Given the description of an element on the screen output the (x, y) to click on. 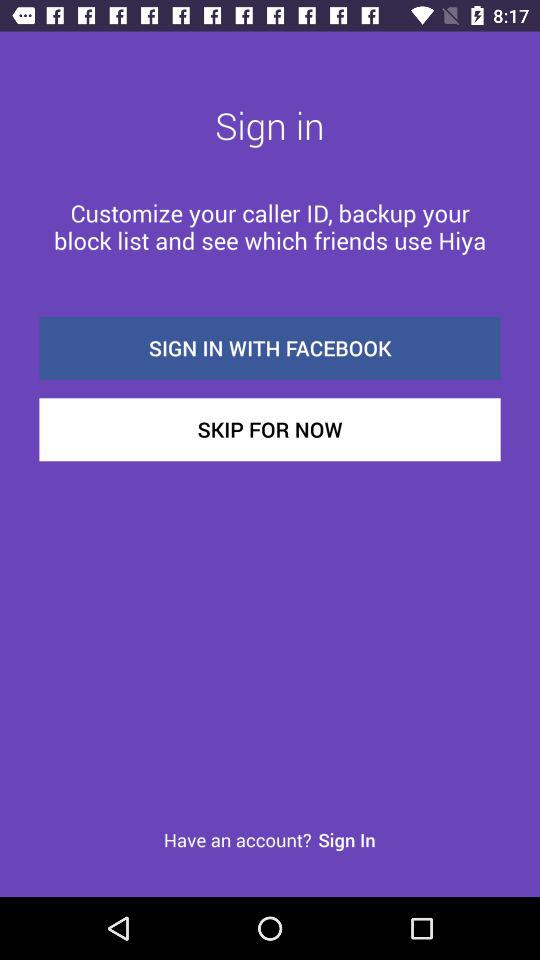
turn off item below sign in item (269, 226)
